Given the description of an element on the screen output the (x, y) to click on. 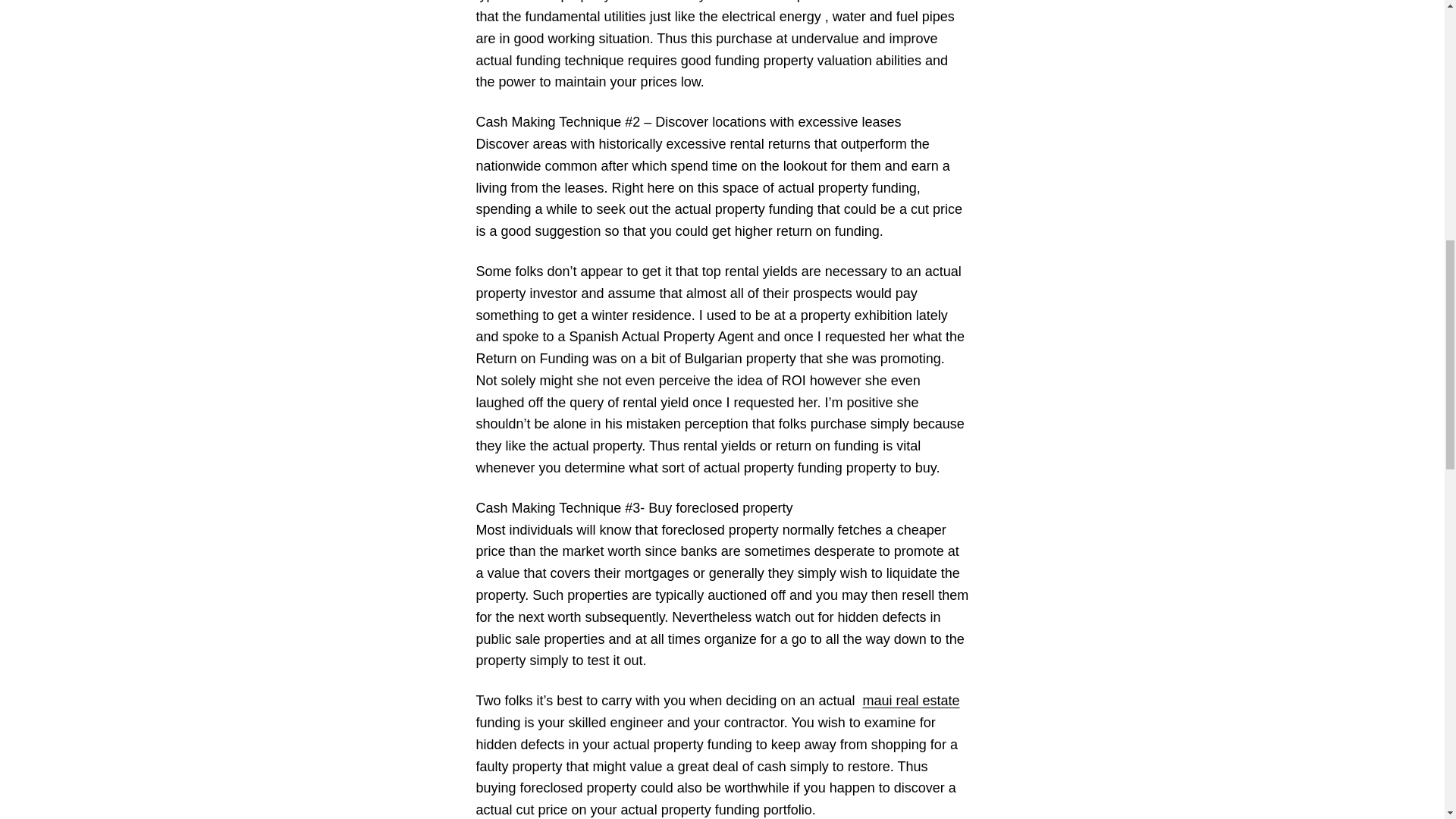
maui real estate (910, 700)
